Given the description of an element on the screen output the (x, y) to click on. 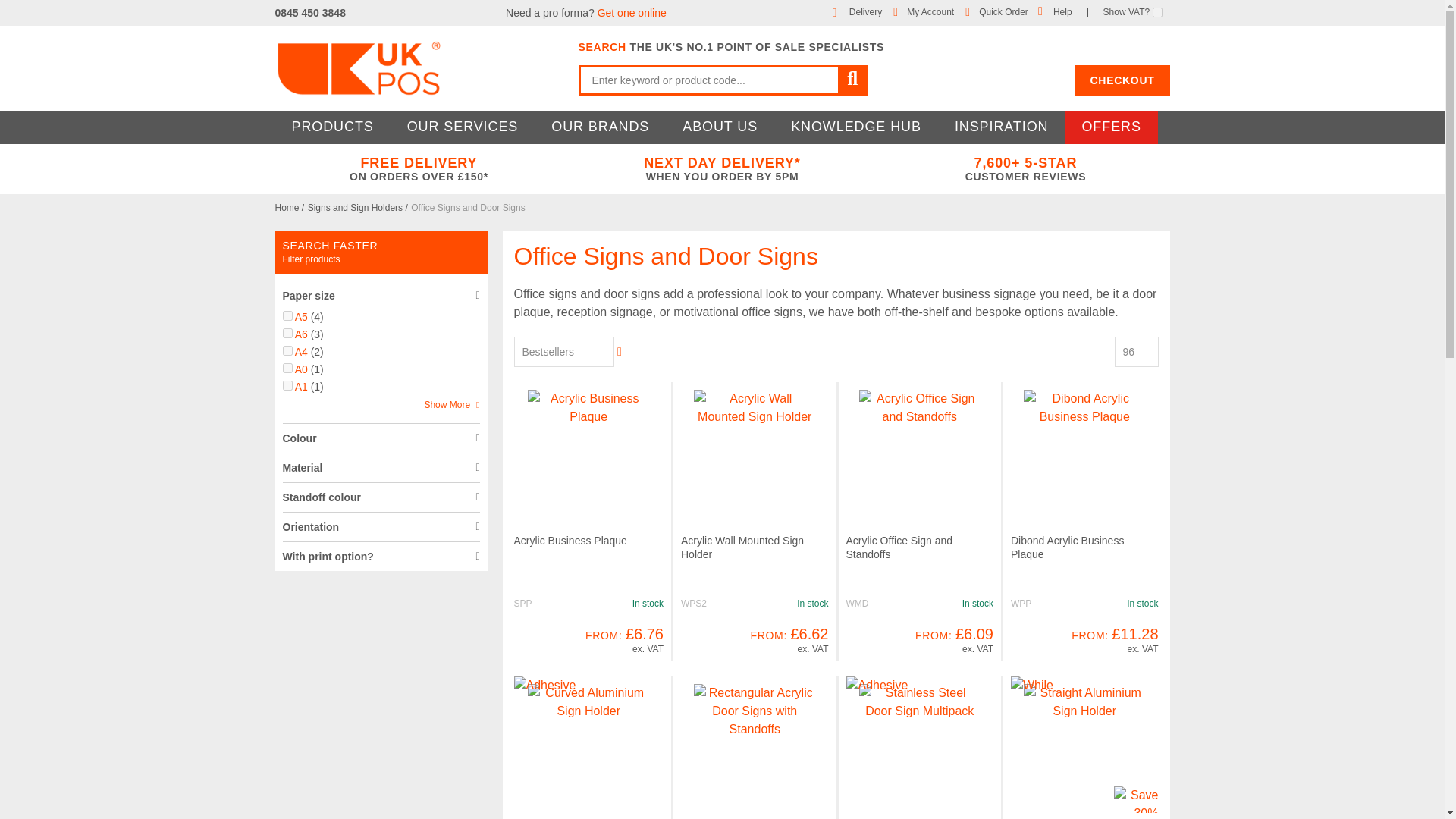
on (287, 350)
Help (1061, 11)
My Account (930, 11)
CHECKOUT (1122, 80)
on (287, 368)
on (287, 385)
Get one online (631, 12)
0845 450 3848 (310, 12)
on (1157, 12)
Search (852, 80)
Acrylic Business Plaque (570, 540)
Delivery (865, 11)
on (287, 316)
Quick Order (1002, 11)
